Given the description of an element on the screen output the (x, y) to click on. 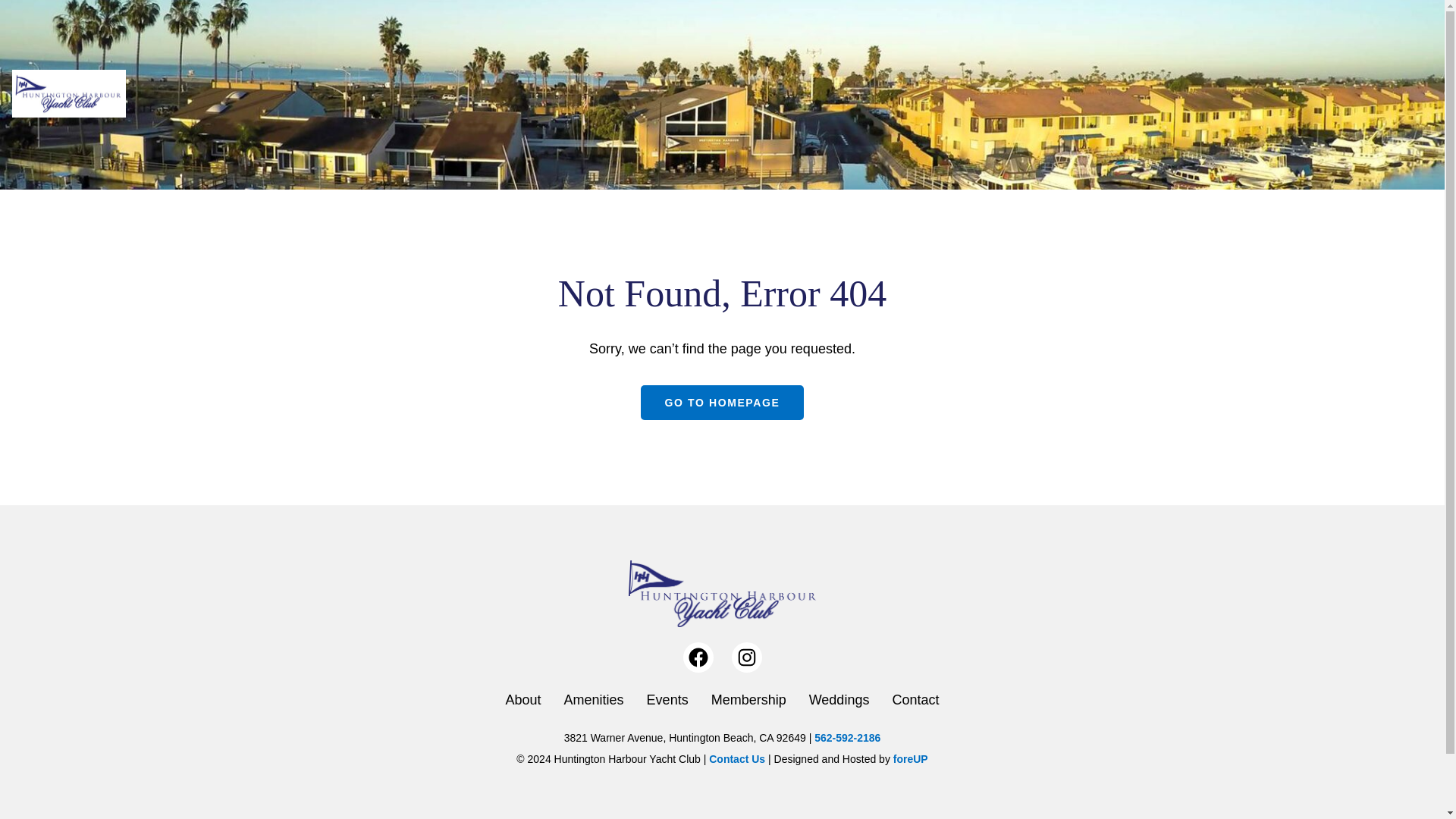
Amenities (594, 699)
About (523, 699)
562-592-2186 (846, 737)
GO TO HOMEPAGE (722, 402)
Contact (915, 699)
Weddings (839, 699)
Membership (748, 699)
Events (667, 699)
Facebook (697, 657)
Contact Us (737, 758)
